Given the description of an element on the screen output the (x, y) to click on. 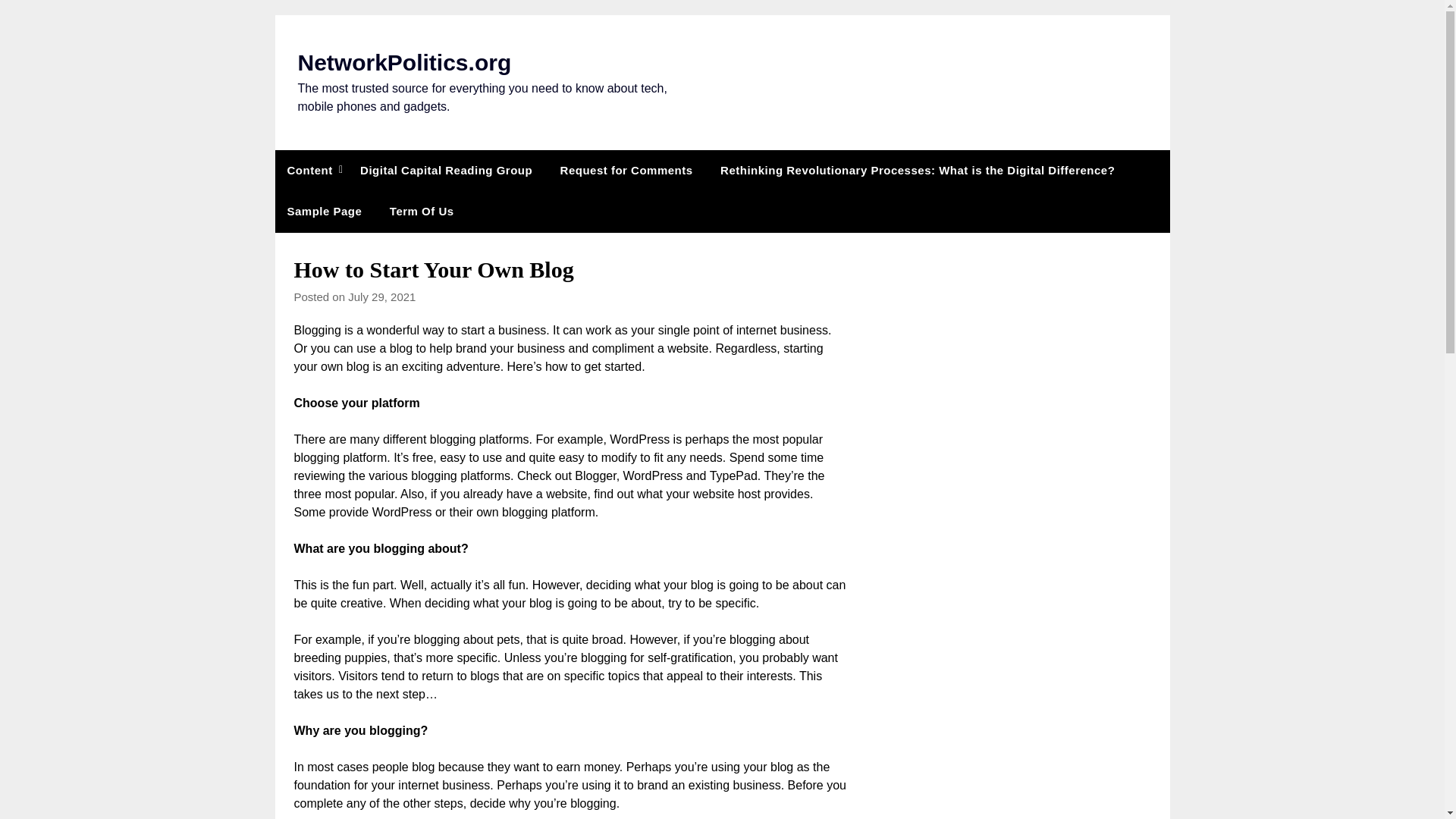
Digital Capital Reading Group (445, 169)
Request for Comments (626, 169)
Content (309, 169)
NetworkPolitics.org (404, 62)
Sample Page (324, 210)
Term Of Us (421, 210)
